Given the description of an element on the screen output the (x, y) to click on. 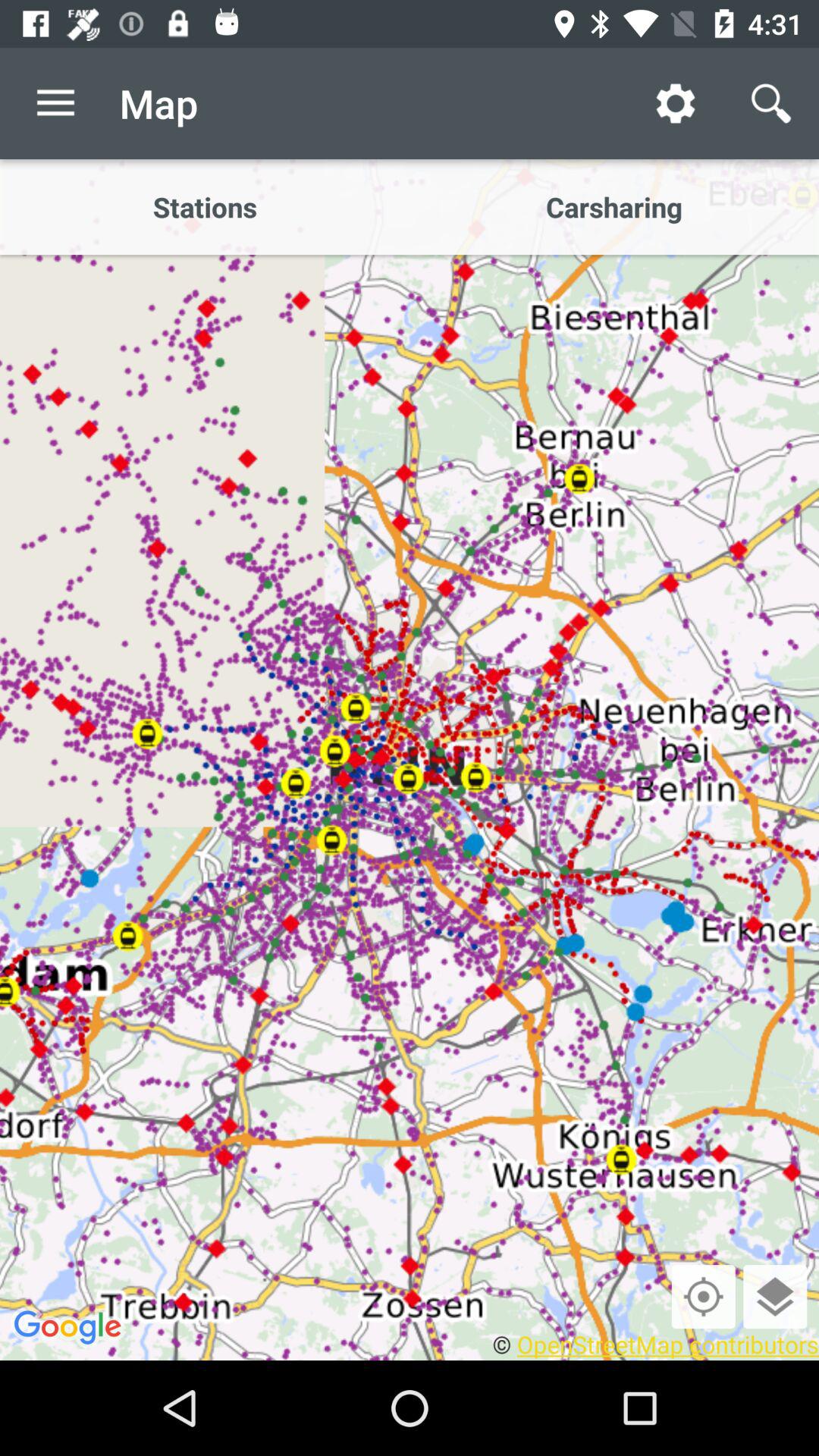
clique para saber sua localizao (703, 1296)
